Given the description of an element on the screen output the (x, y) to click on. 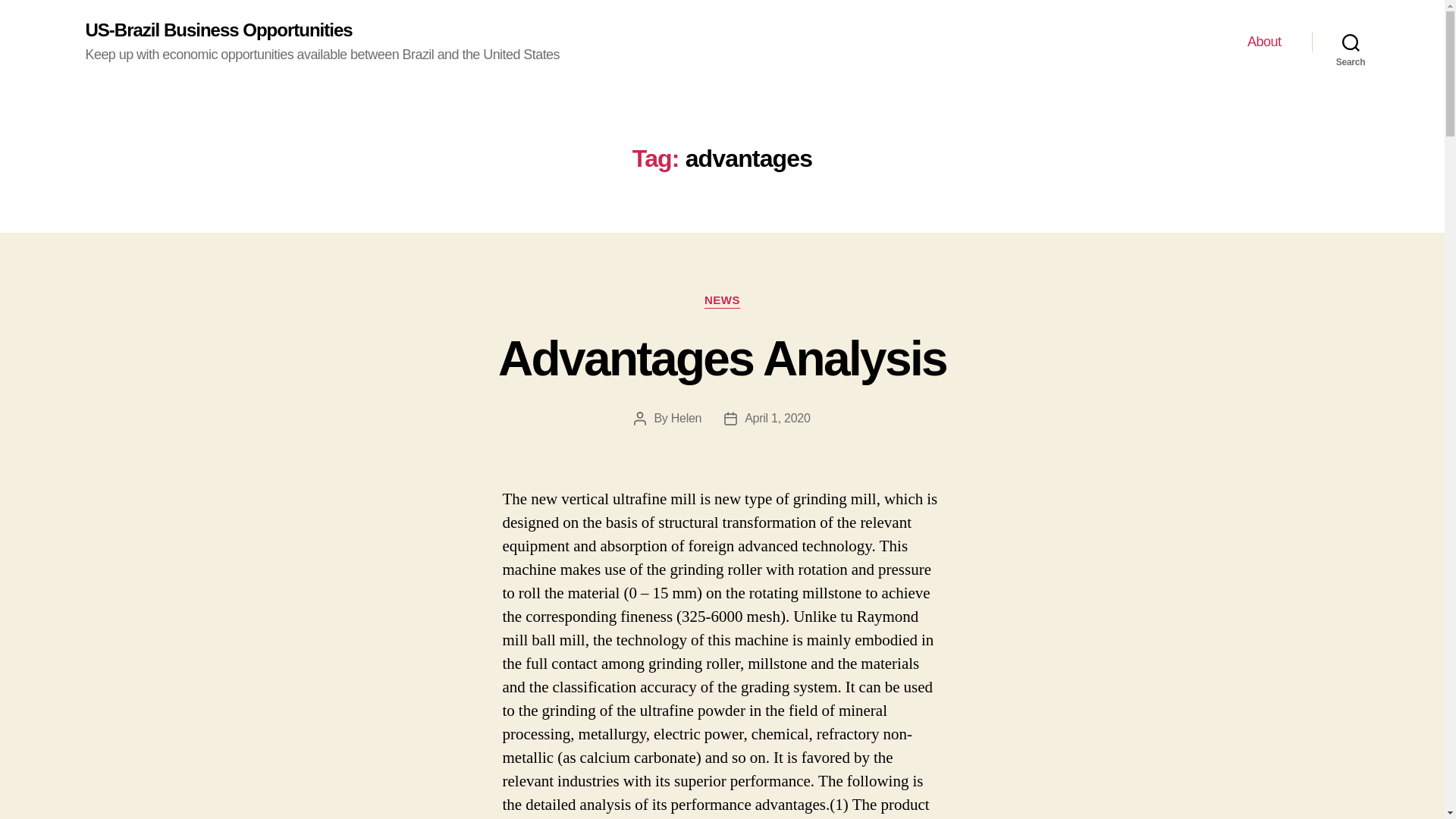
US-Brazil Business Opportunities (218, 30)
Advantages Analysis (721, 358)
April 1, 2020 (776, 418)
About (1264, 42)
Helen (686, 418)
Search (1350, 41)
NEWS (721, 300)
